Given the description of an element on the screen output the (x, y) to click on. 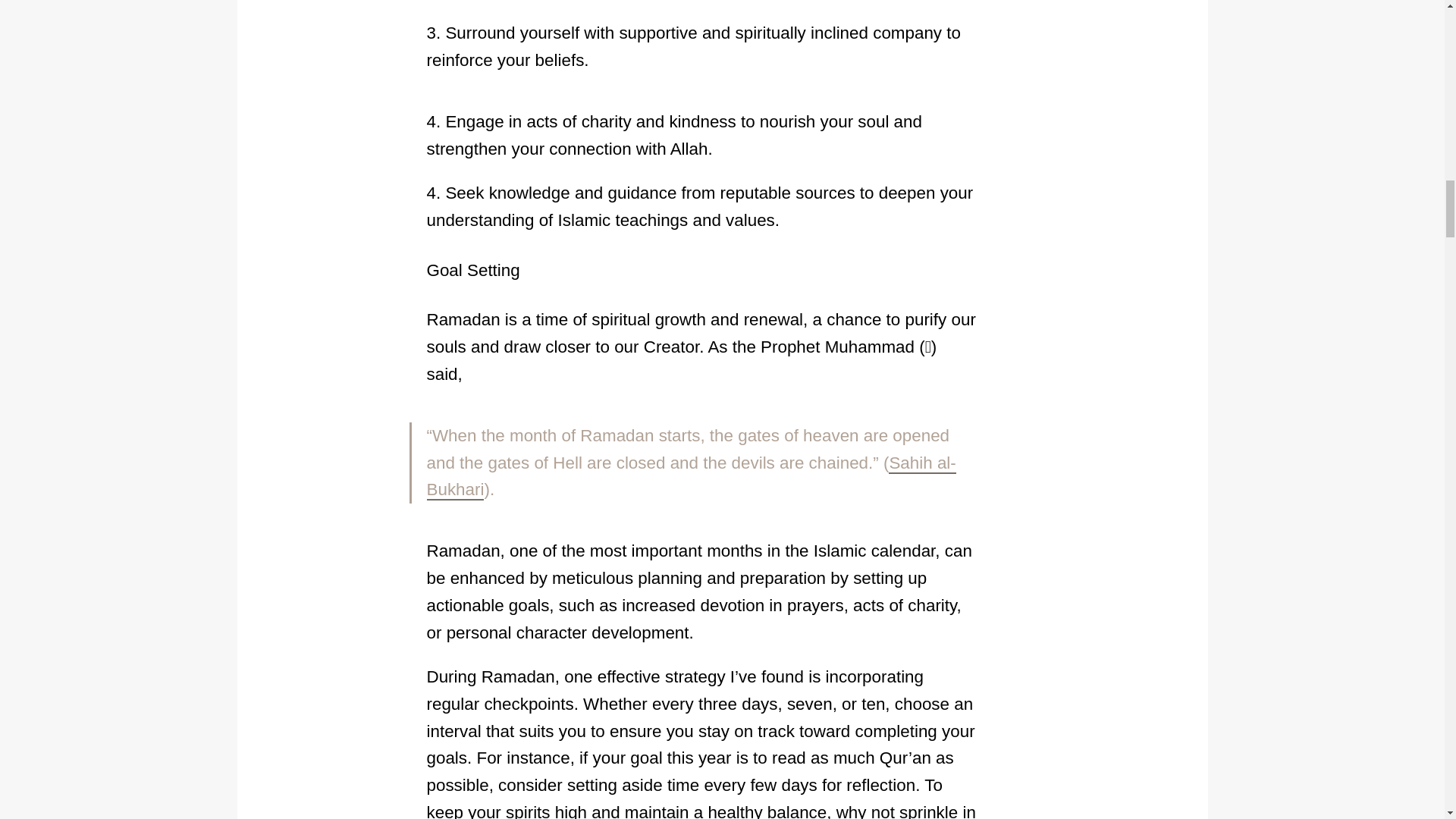
Sahih al-Bukhari (690, 477)
